Given the description of an element on the screen output the (x, y) to click on. 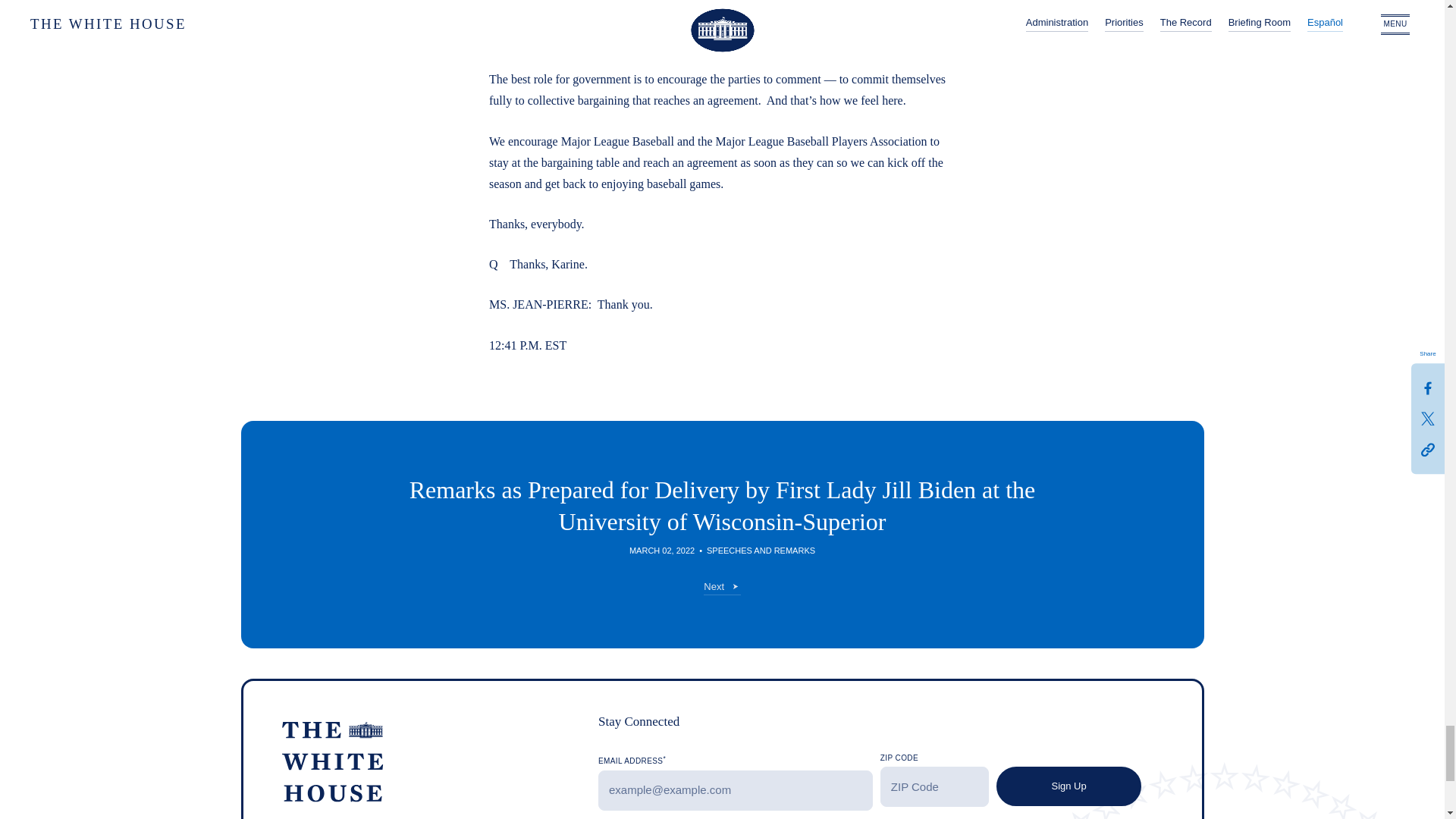
Sign Up (1068, 786)
